Given the description of an element on the screen output the (x, y) to click on. 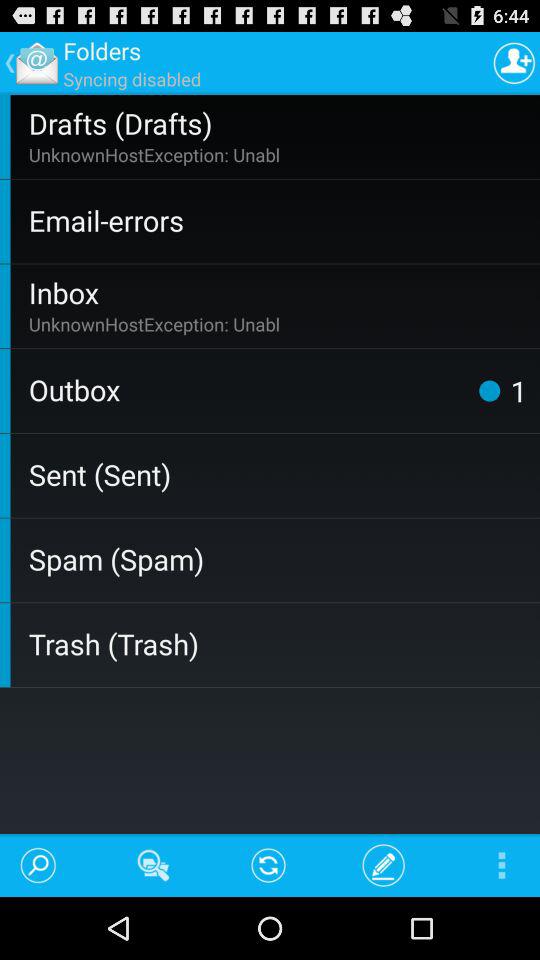
click the 1 item (518, 390)
